Given the description of an element on the screen output the (x, y) to click on. 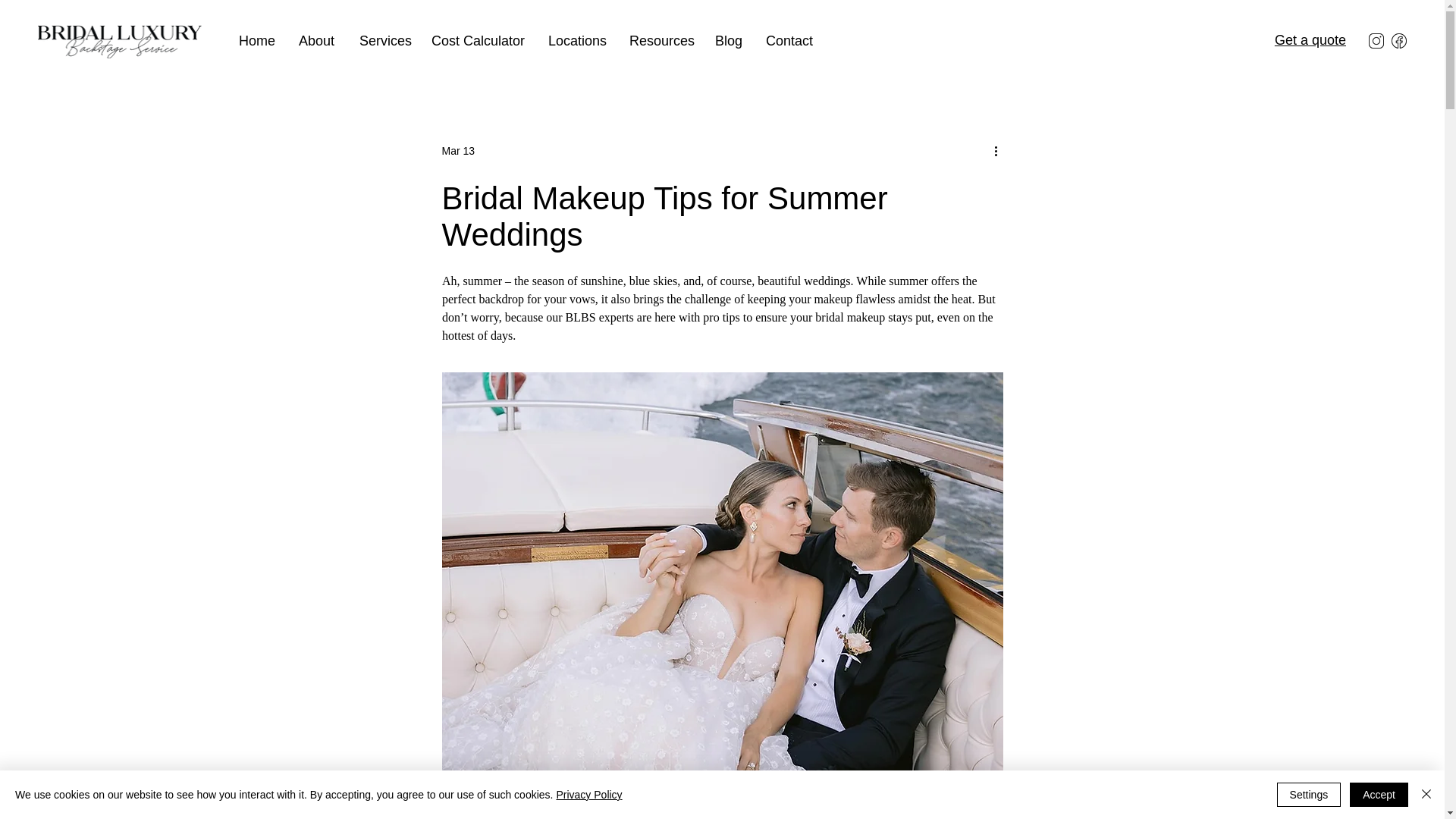
Contact (789, 40)
Blog (728, 40)
Locations (577, 40)
Cost Calculator (478, 40)
Home (256, 40)
Services (383, 40)
About (316, 40)
Mar 13 (457, 150)
Get a quote (1310, 39)
